Given the description of an element on the screen output the (x, y) to click on. 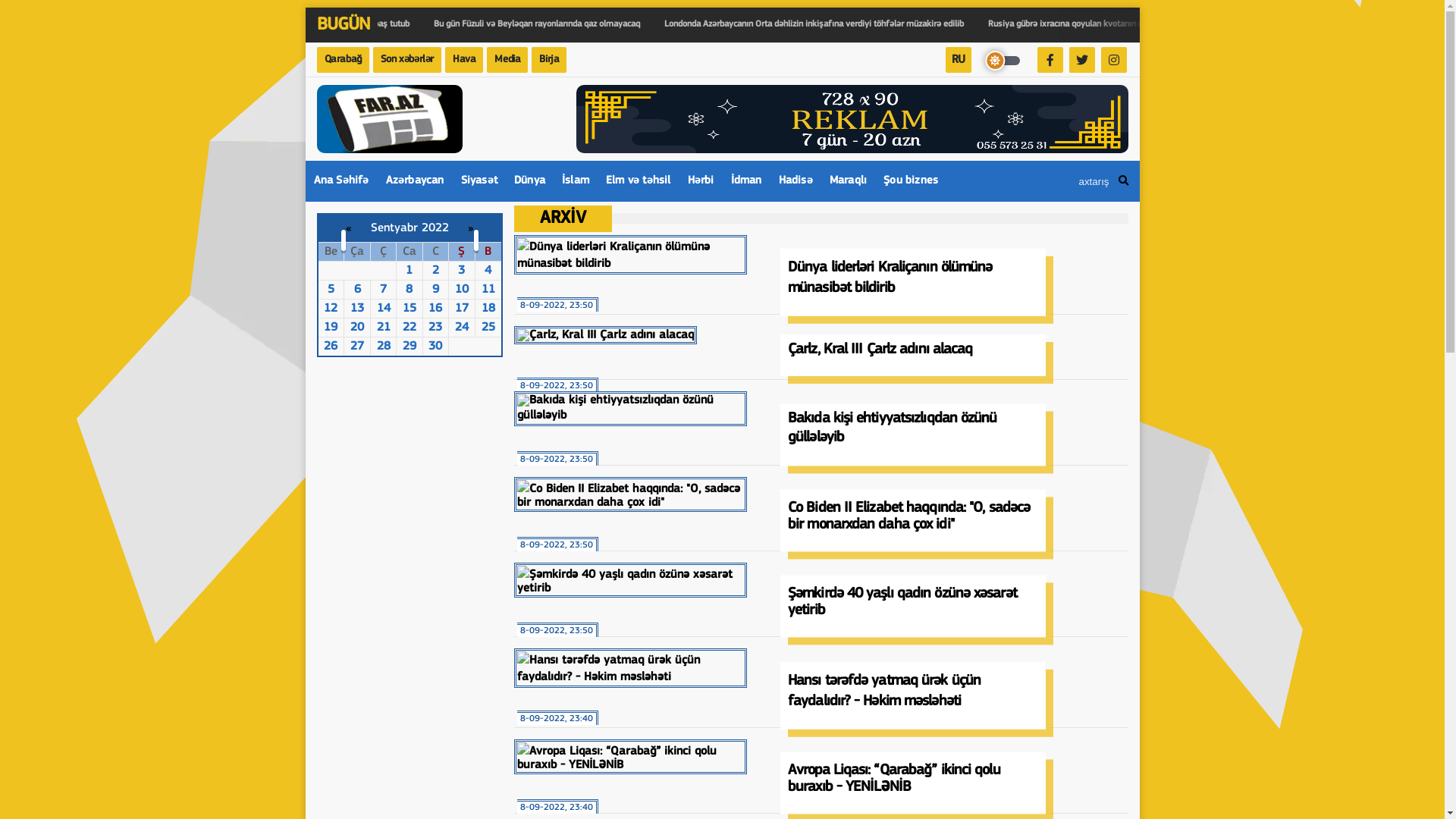
30 Element type: text (435, 346)
25 Element type: text (488, 327)
29 Element type: text (409, 346)
1 Element type: text (408, 270)
16 Element type: text (435, 308)
Birja Element type: text (548, 59)
17 Element type: text (461, 308)
reklam Element type: hover (852, 118)
8-09-2022, 23:40 Element type: text (630, 756)
8-09-2022, 23:40 Element type: text (630, 668)
22 Element type: text (409, 327)
21 Element type: text (383, 327)
8 Element type: text (408, 289)
27 Element type: text (357, 346)
8-09-2022, 23:50 Element type: text (630, 580)
24 Element type: text (461, 327)
8-09-2022, 23:50 Element type: text (605, 335)
11 Element type: text (488, 289)
10 Element type: text (461, 289)
Hava Element type: text (464, 59)
12 Element type: text (330, 308)
9 Element type: text (435, 289)
20 Element type: text (357, 327)
Media Element type: text (506, 59)
3 Element type: text (461, 270)
14 Element type: text (383, 308)
7 Element type: text (382, 289)
RU Element type: text (958, 59)
5 Element type: text (330, 289)
28 Element type: text (383, 346)
26 Element type: text (330, 346)
logo Element type: hover (389, 118)
8-09-2022, 23:50 Element type: text (630, 408)
23 Element type: text (435, 327)
15 Element type: text (409, 308)
18 Element type: text (488, 308)
13 Element type: text (357, 308)
2 Element type: text (435, 270)
8-09-2022, 23:50 Element type: text (630, 254)
4 Element type: text (487, 270)
8-09-2022, 23:50 Element type: text (630, 494)
6 Element type: text (357, 289)
19 Element type: text (330, 327)
